Given the description of an element on the screen output the (x, y) to click on. 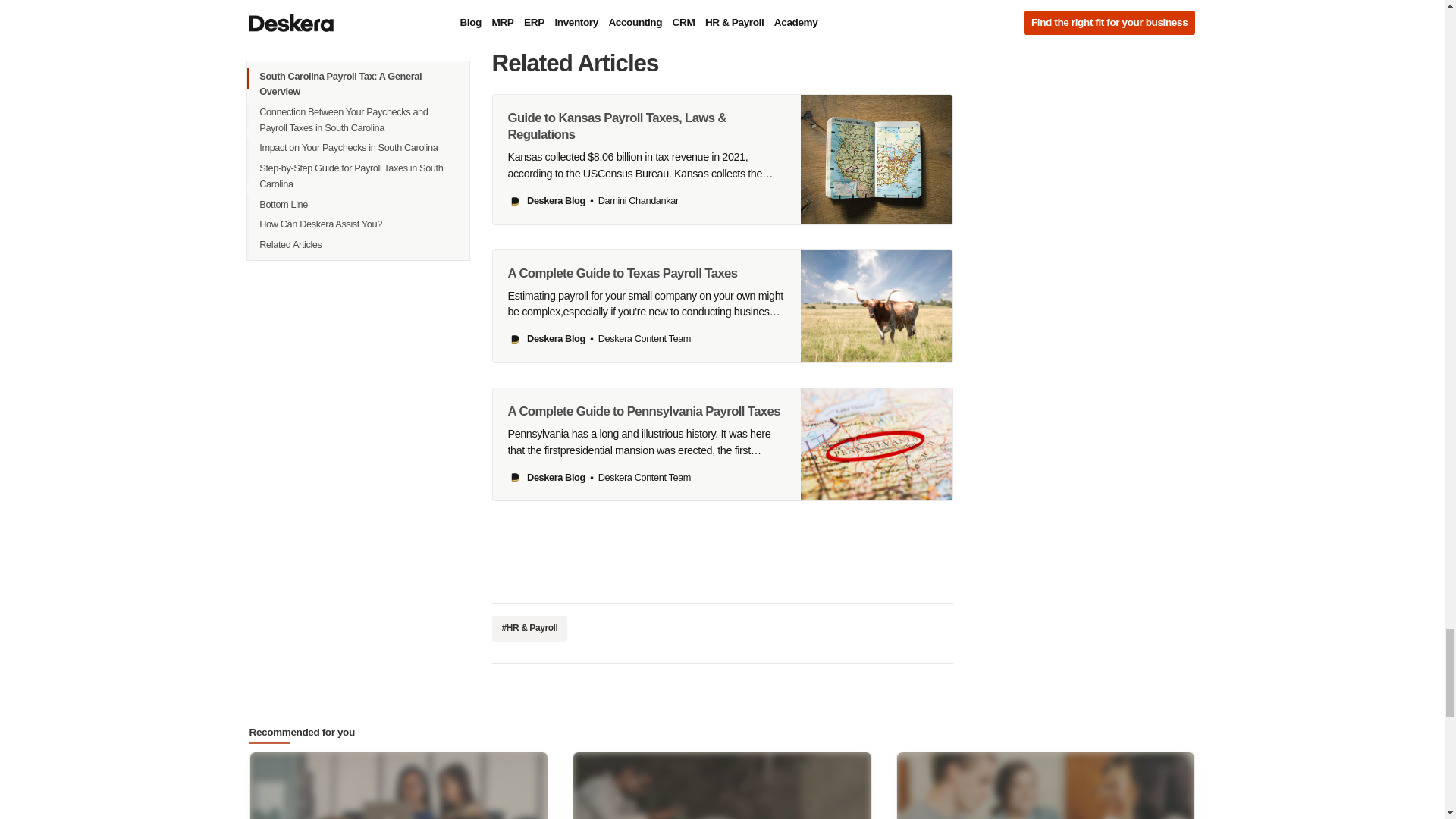
What are Fringe Benefits? (399, 785)
Haryana Code on Wages Rules 2021 (721, 785)
Your Field Guide for Managing Quirky Work Personalities (1045, 785)
